Given the description of an element on the screen output the (x, y) to click on. 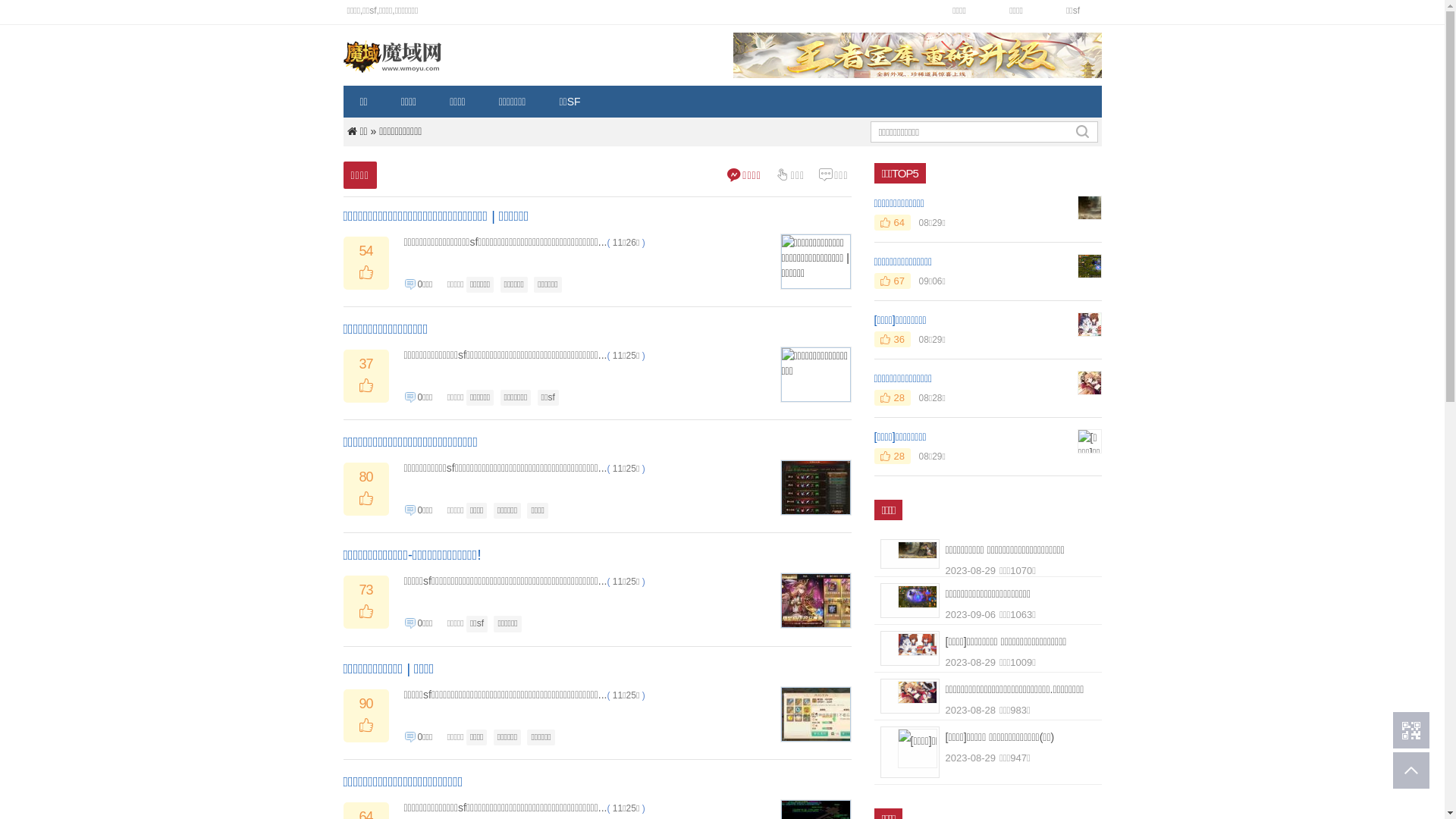
90 Element type: text (365, 713)
64 Element type: text (891, 222)
28 Element type: text (891, 456)
54 Element type: text (365, 260)
80 Element type: text (365, 486)
28 Element type: text (891, 397)
73 Element type: text (365, 599)
37 Element type: text (365, 373)
67 Element type: text (891, 280)
36 Element type: text (891, 339)
